Given the description of an element on the screen output the (x, y) to click on. 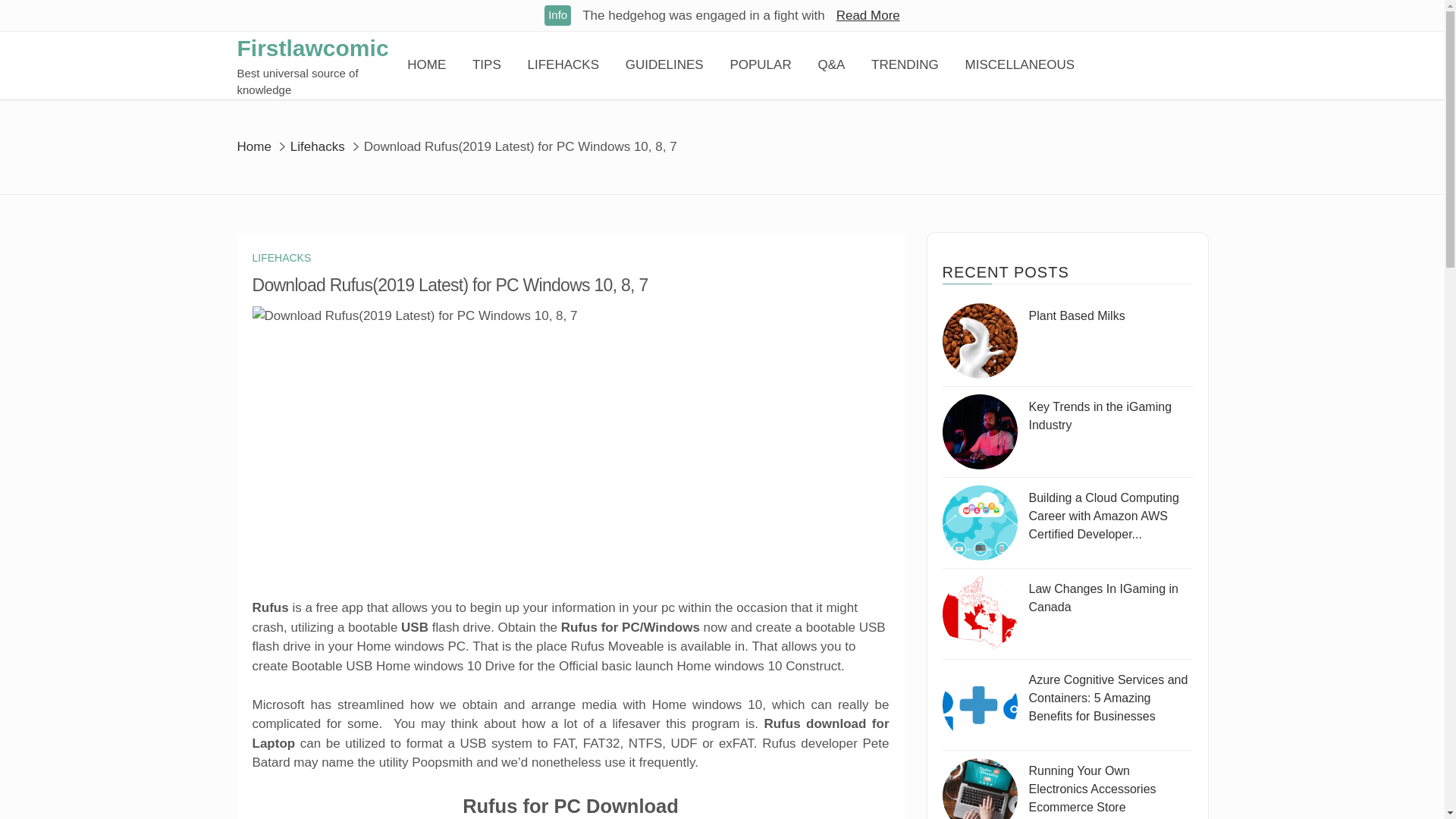
Key Trends in the iGaming Industry (1099, 415)
Running Your Own Electronics Accessories Ecommerce Store (979, 788)
Plant Based Milks (1075, 315)
Firstlawcomic (311, 47)
MISCELLANEOUS (1020, 65)
TRENDING (904, 65)
POPULAR (759, 65)
Plant Based Milks (979, 340)
LIFEHACKS (281, 258)
Law Changes In IGaming in Canada (979, 613)
HOME (426, 65)
Home (252, 146)
